Given the description of an element on the screen output the (x, y) to click on. 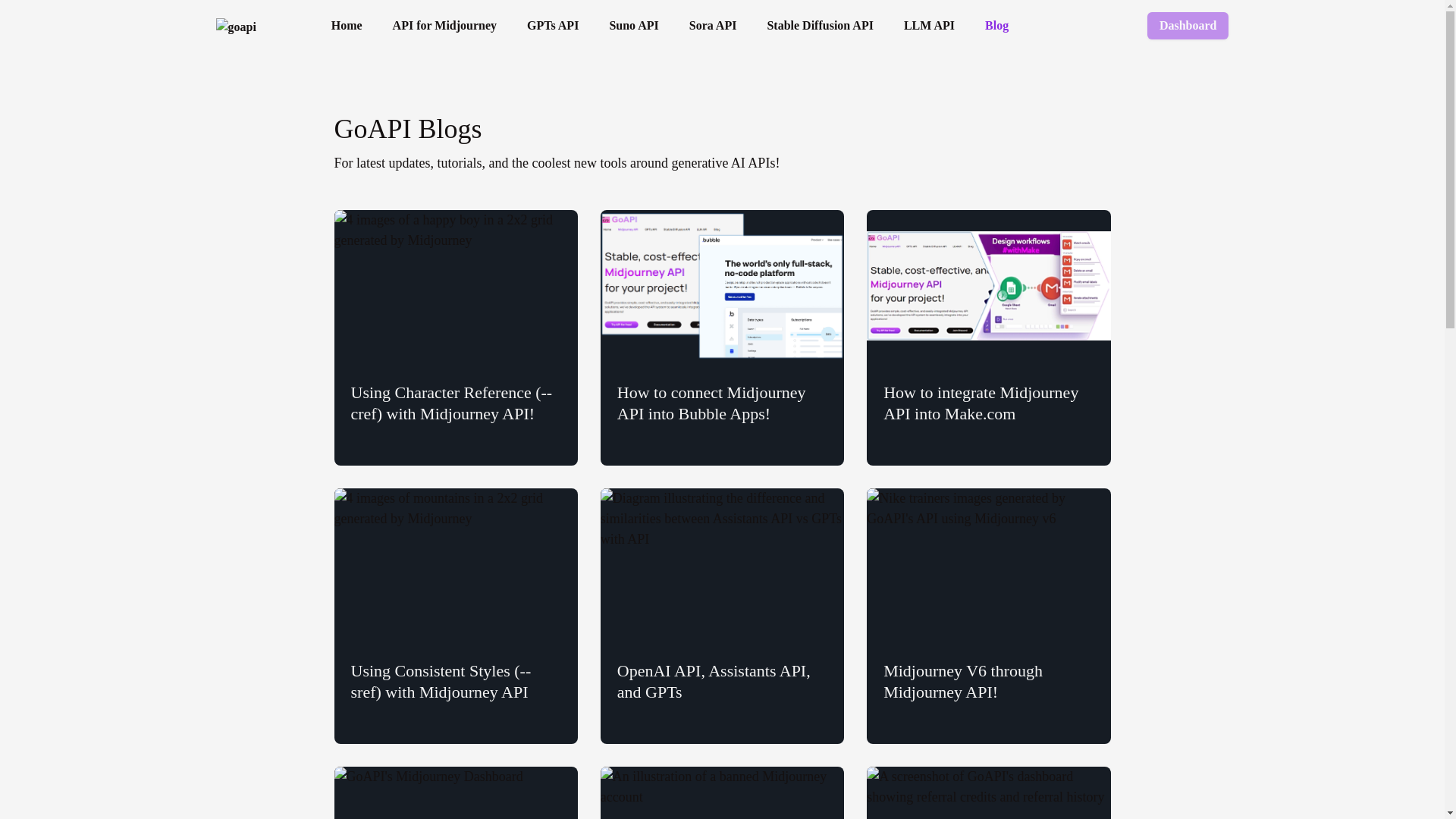
Suno API (633, 25)
GPTs API (552, 25)
Stable Diffusion API (819, 25)
OpenAI API, Assistants API, and GPTs (721, 615)
How to try and avoid getting banned from Midjourney (721, 792)
How to connect Midjourney API into Bubble Apps! (721, 337)
Midjourney V6 through Midjourney API! (987, 615)
Dashboard (1187, 25)
API for Midjourney (444, 25)
